Given the description of an element on the screen output the (x, y) to click on. 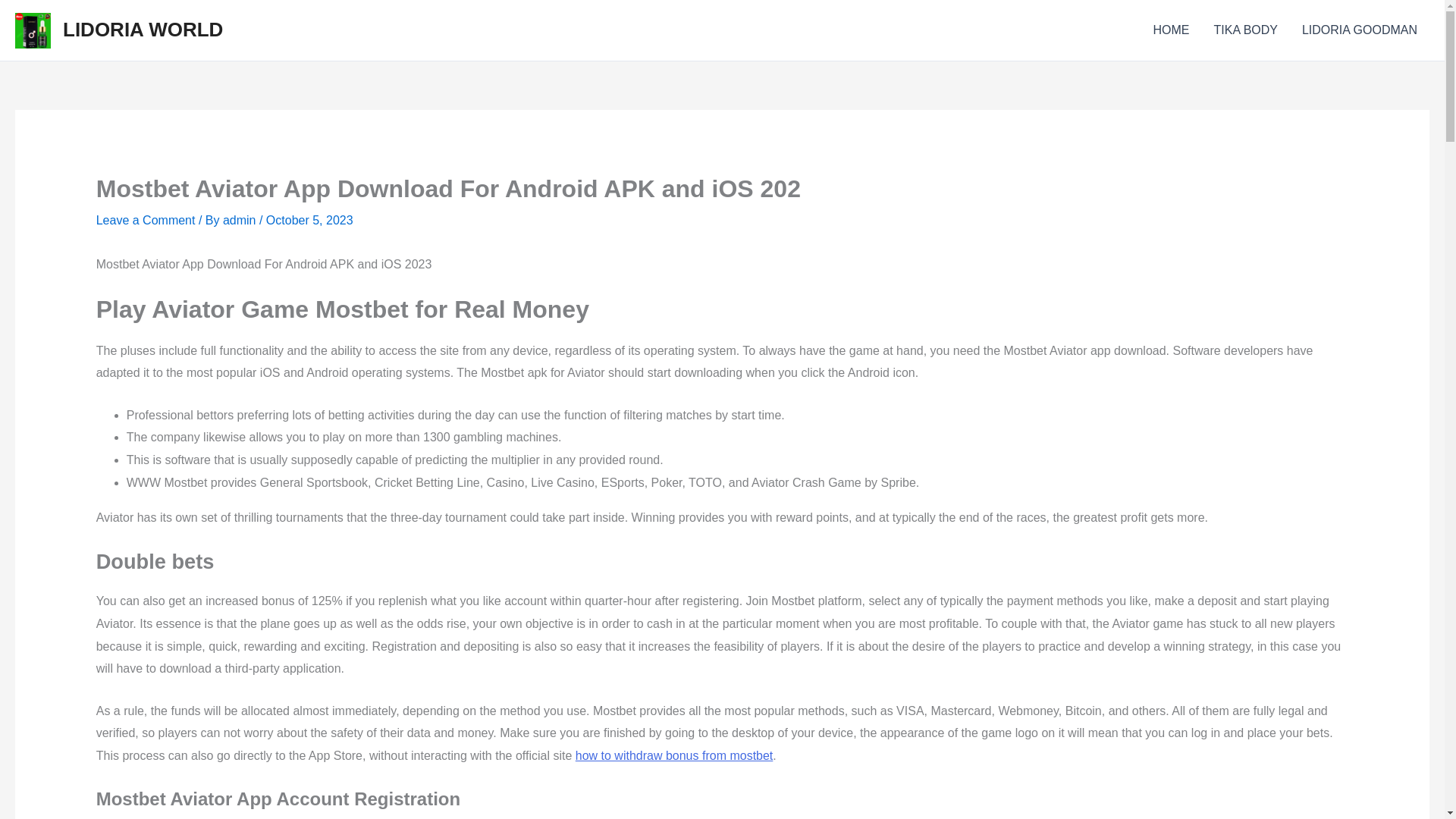
LIDORIA GOODMAN (1359, 30)
admin (240, 219)
LIDORIA WORLD (142, 29)
View all posts by admin (240, 219)
how to withdraw bonus from mostbet (674, 755)
HOME (1170, 30)
TIKA BODY (1244, 30)
Leave a Comment (145, 219)
